Given the description of an element on the screen output the (x, y) to click on. 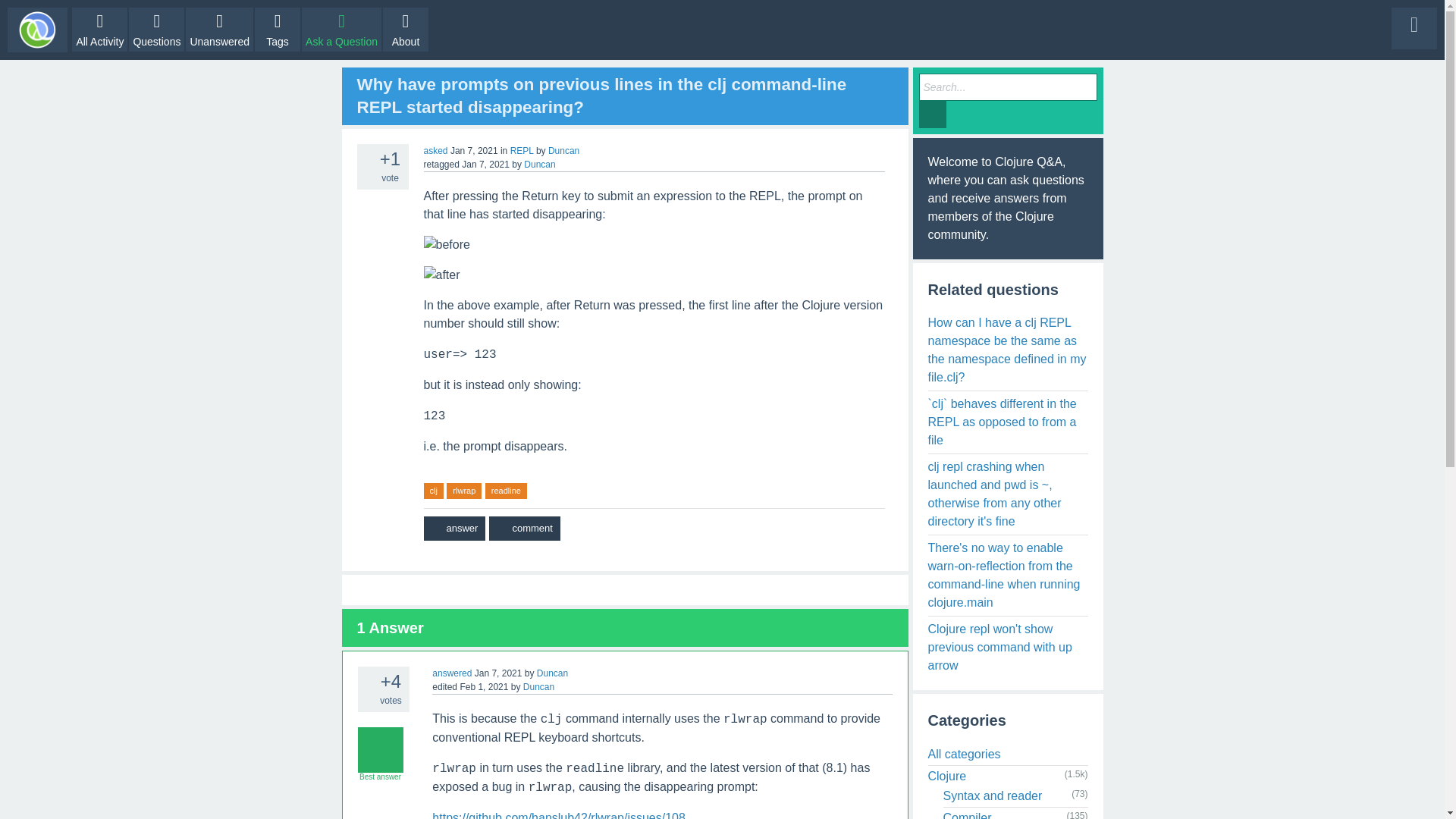
Click to vote down (366, 698)
comment (524, 528)
All Activity (99, 29)
answered (451, 673)
Search (932, 113)
Search (932, 113)
Duncan (563, 150)
Tags (276, 29)
readline (505, 490)
Unanswered (219, 29)
